Given the description of an element on the screen output the (x, y) to click on. 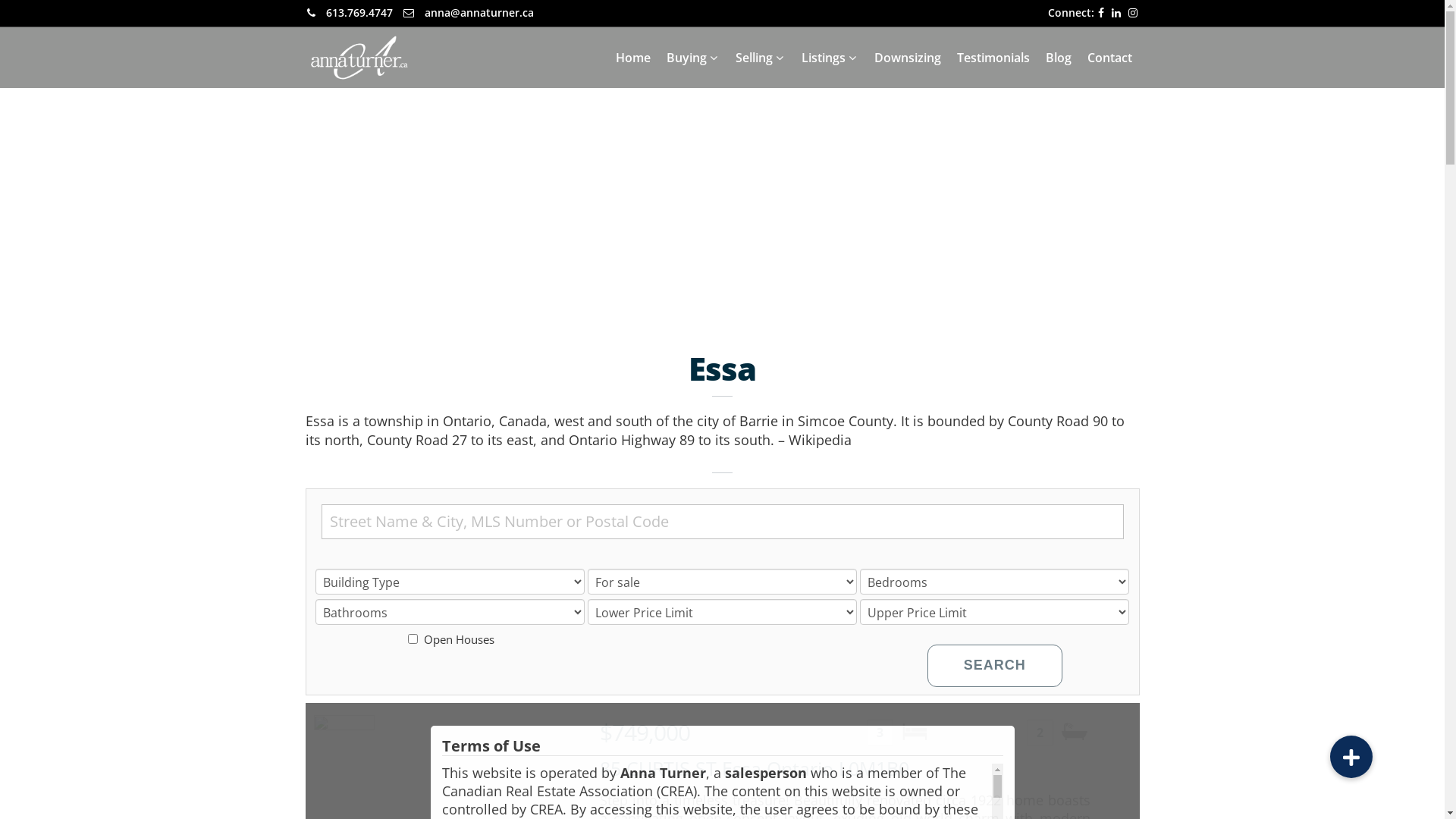
Selling Element type: text (760, 57)
Home Element type: text (633, 57)
Contact Element type: text (1109, 57)
Search Element type: text (994, 665)
Blog Element type: text (1057, 57)
Testimonials Element type: text (993, 57)
$749,000 Element type: text (644, 731)
Downsizing Element type: text (906, 57)
Buying Element type: text (692, 57)
Listings Element type: text (829, 57)
